Given the description of an element on the screen output the (x, y) to click on. 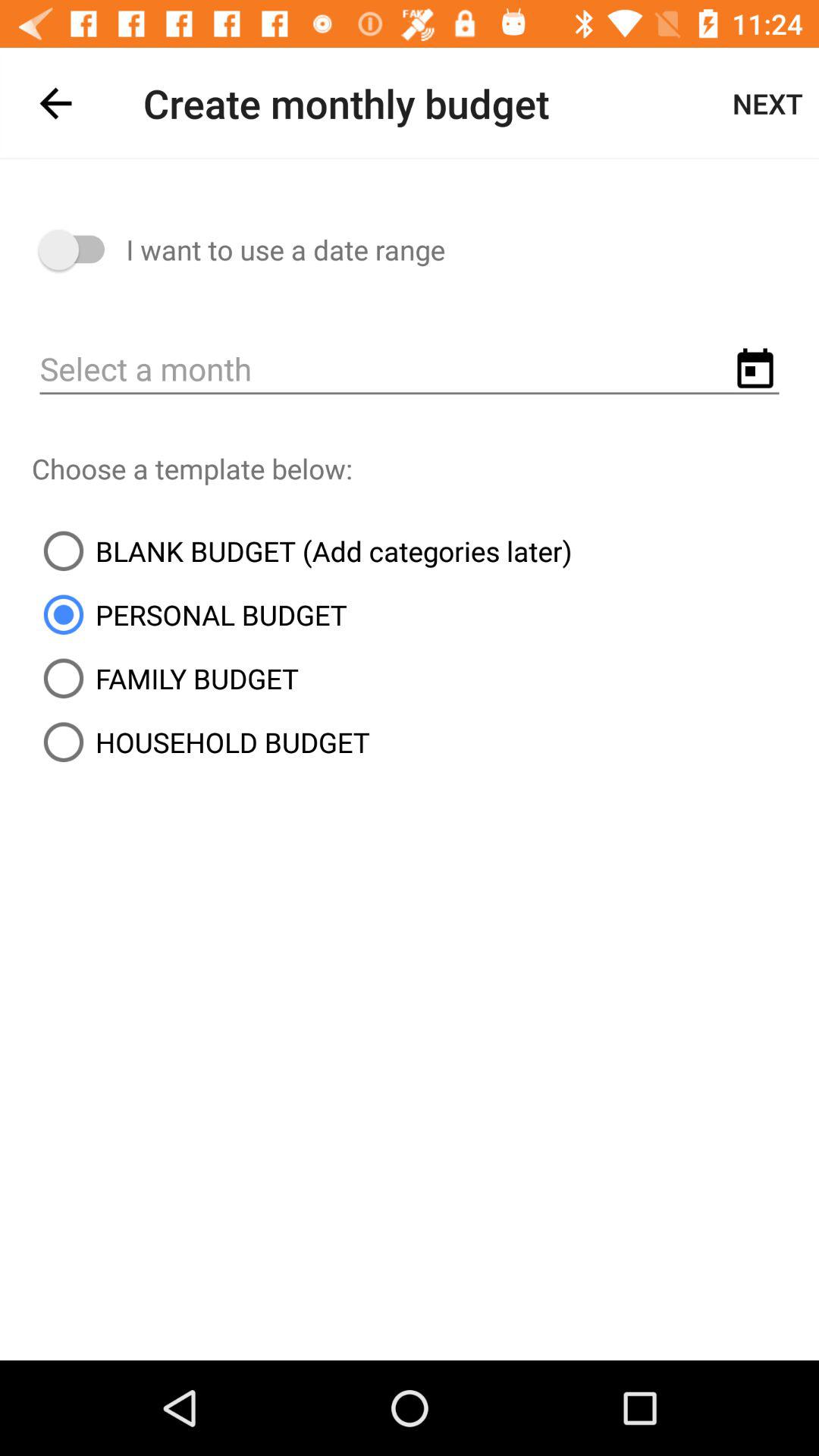
open the icon above household budget item (164, 678)
